Given the description of an element on the screen output the (x, y) to click on. 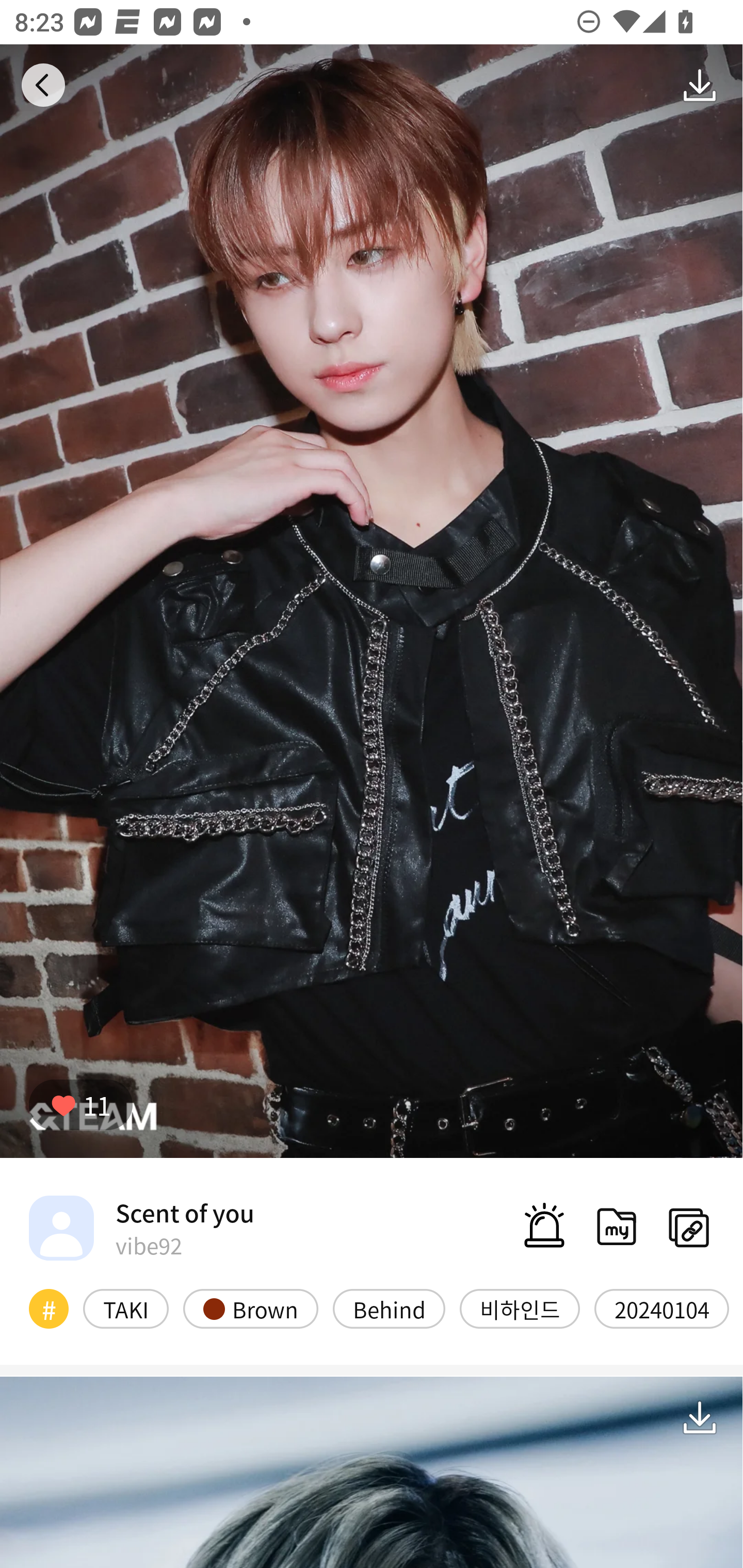
11 (80, 1104)
Scent of you vibe92 (141, 1227)
TAKI (125, 1308)
Brown (250, 1308)
Behind (388, 1308)
비하인드 (519, 1308)
20240104 (661, 1308)
